Given the description of an element on the screen output the (x, y) to click on. 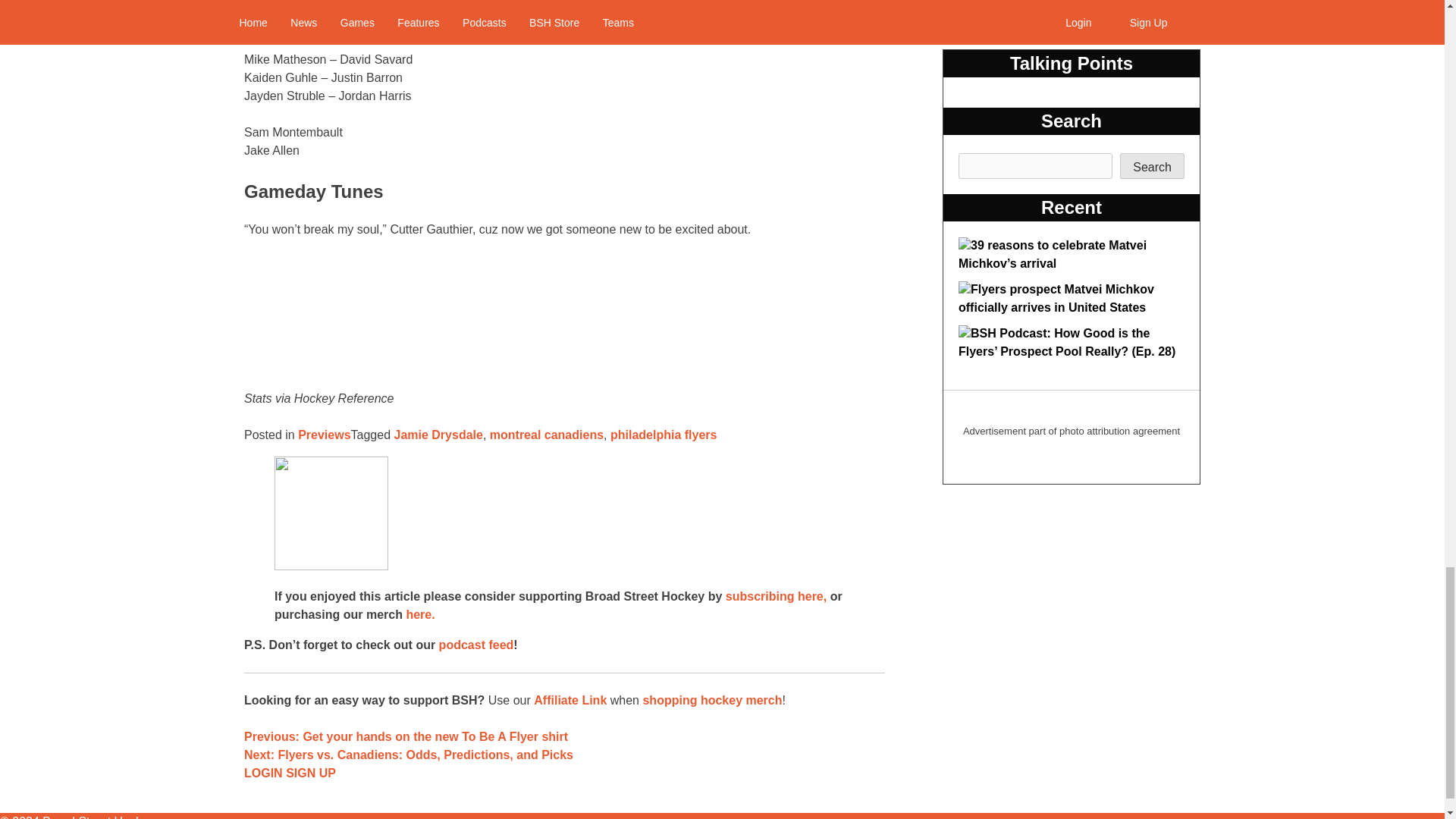
Spotify Embed: BREAK MY SOUL (564, 314)
